Given the description of an element on the screen output the (x, y) to click on. 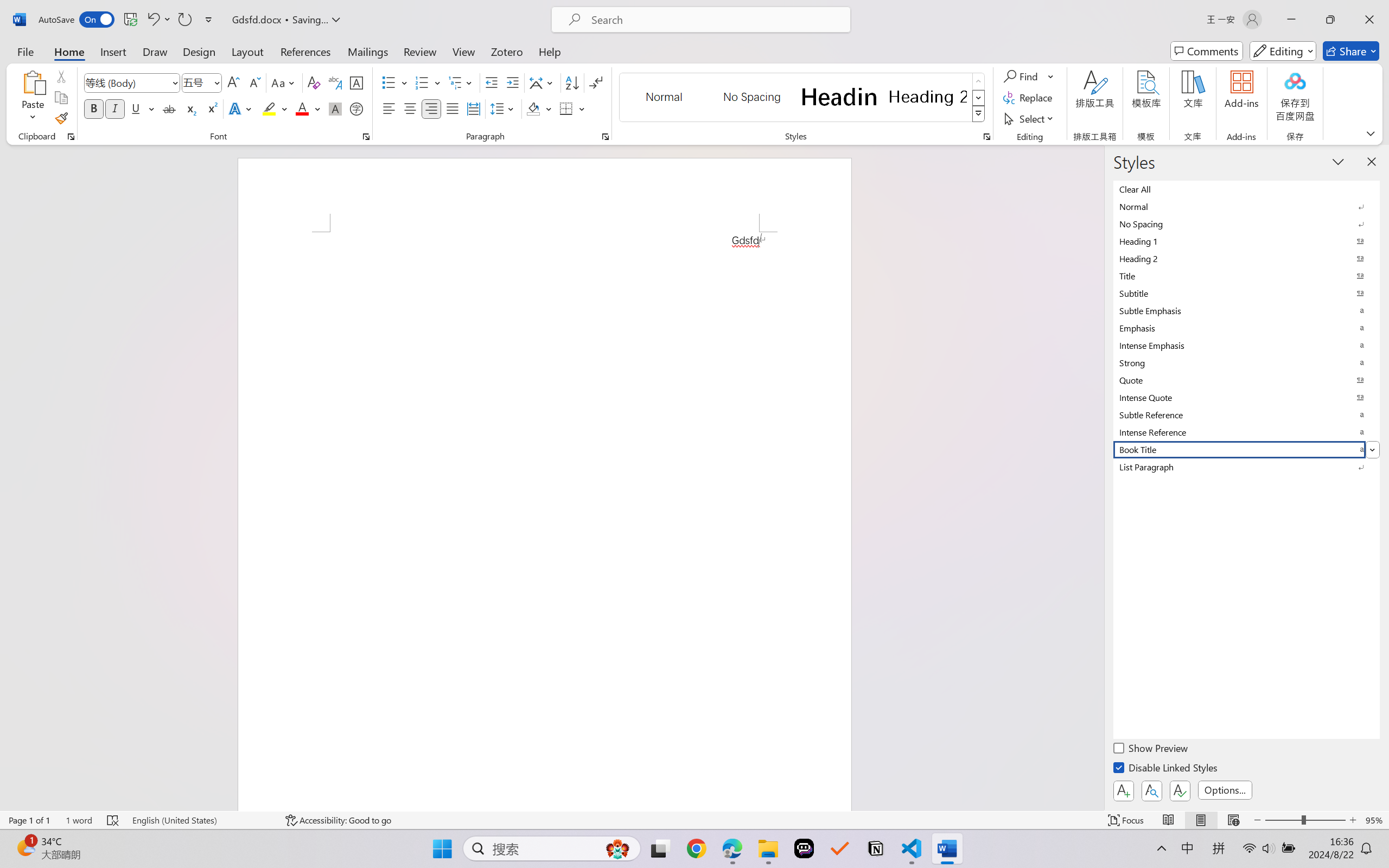
Disable Linked Styles (1166, 769)
Decrease Indent (491, 82)
Repeat Style (184, 19)
Options... (1224, 789)
Book Title (1246, 449)
AutomationID: QuickStylesGallery (802, 97)
Superscript (210, 108)
Title (1246, 275)
